Given the description of an element on the screen output the (x, y) to click on. 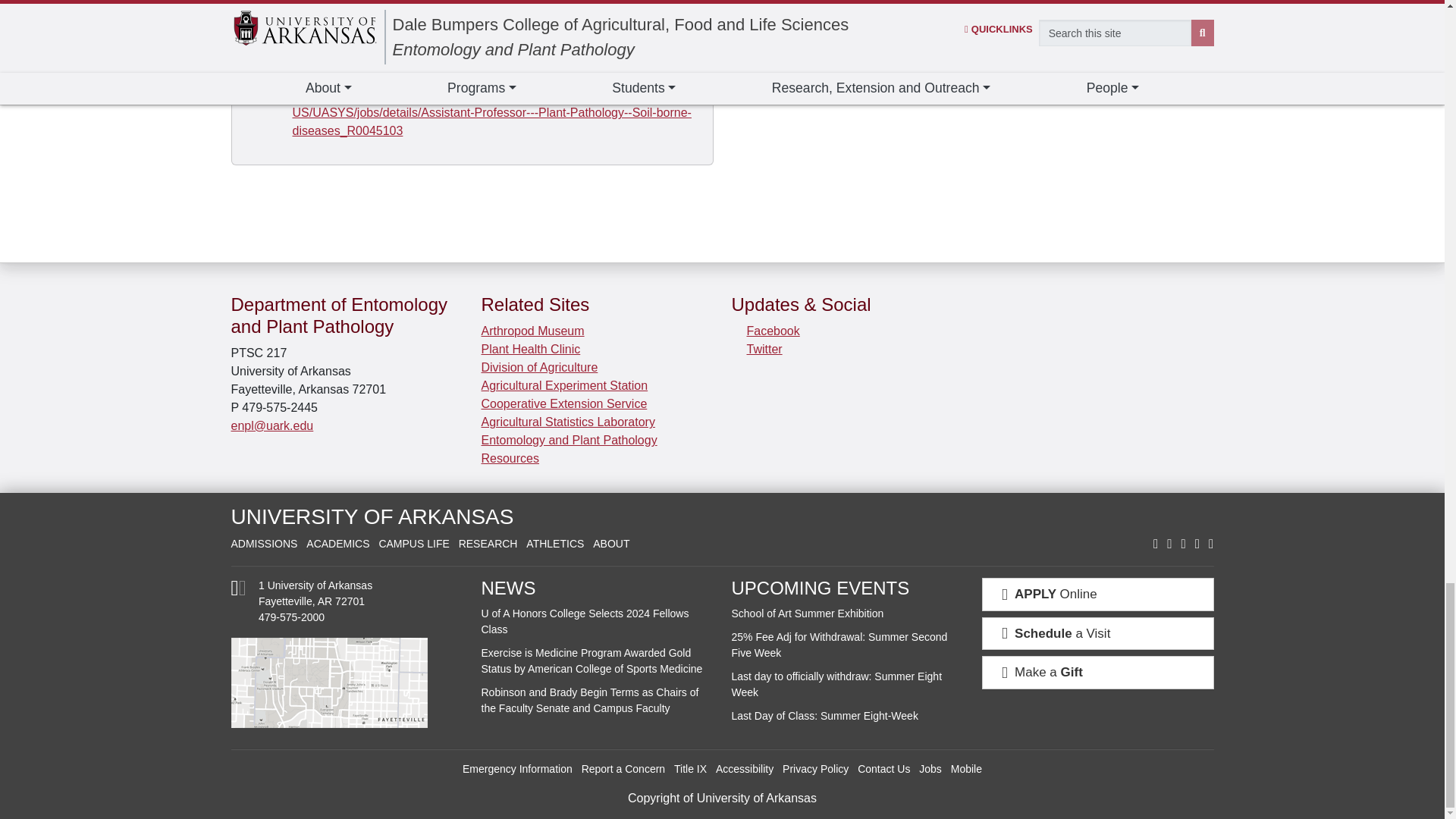
View Campus Maps (346, 683)
University of Arkansas Athletics (554, 543)
View Campus Maps (238, 591)
About the University of Arkansas (610, 543)
University of Arkansas Admissions (263, 543)
University of Arkansas Home Page (371, 516)
University of Arkansas Academics (337, 543)
Campus Life at the University of Arkansas (413, 543)
University of Arkansas Research (488, 543)
